Given the description of an element on the screen output the (x, y) to click on. 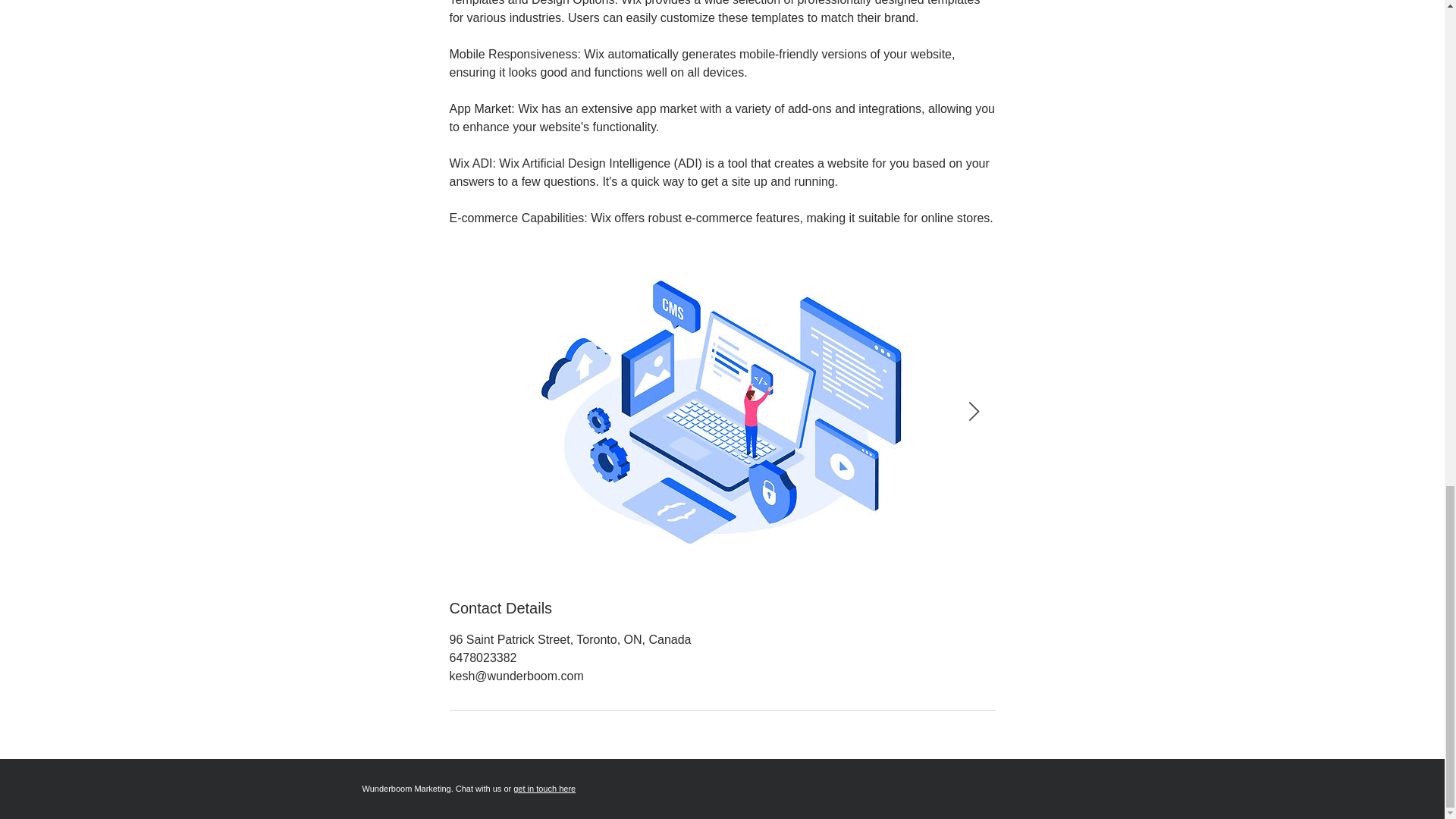
get in touch here (544, 788)
